Given the description of an element on the screen output the (x, y) to click on. 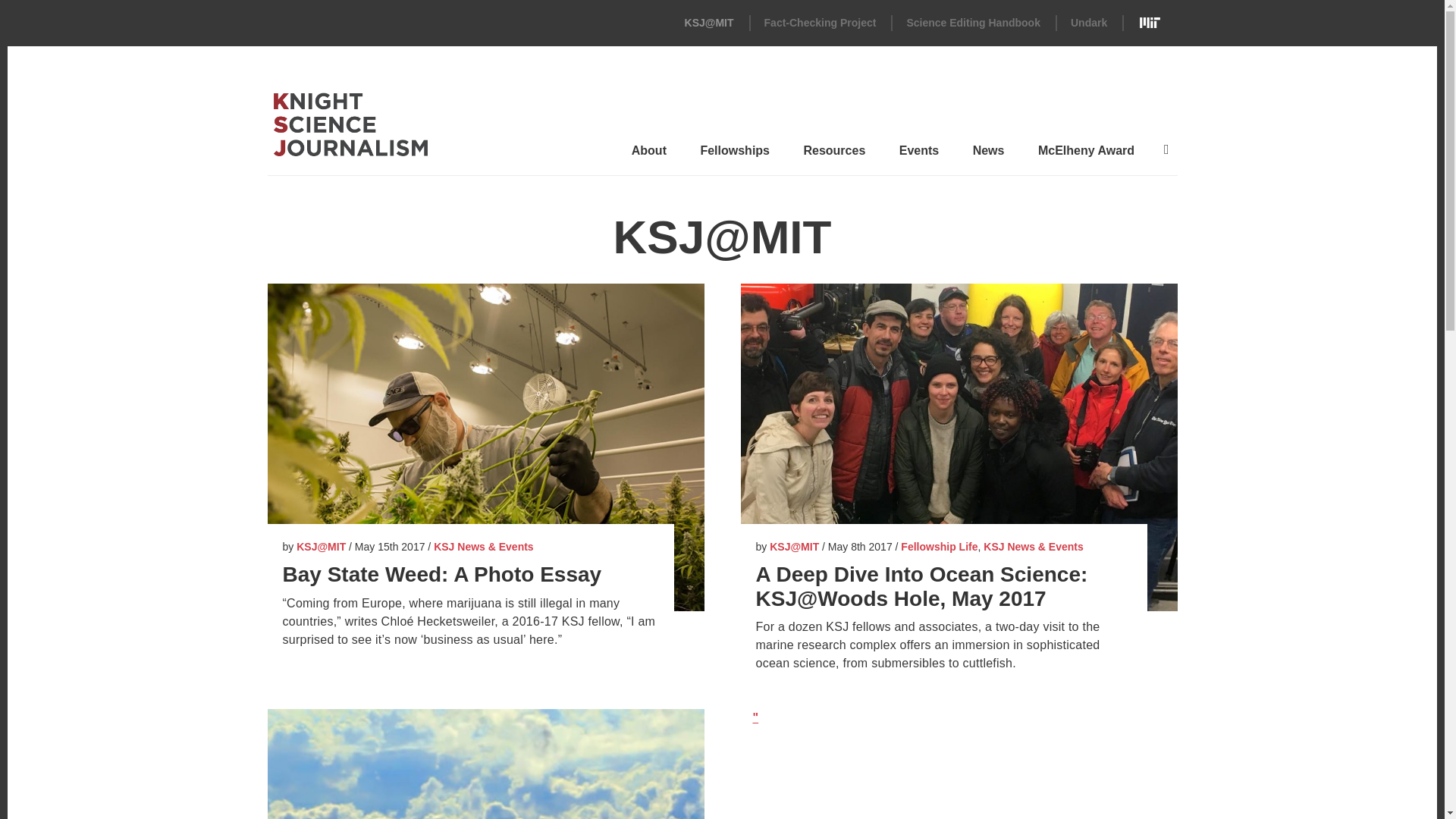
McElheny Award (1086, 154)
Events (919, 154)
Fact-Checking Project (820, 22)
Fellowships (735, 154)
Undark (1088, 22)
Resources (833, 154)
About (648, 154)
News (988, 154)
Science Editing Handbook (973, 22)
Fact-Checking Project (820, 22)
